Given the description of an element on the screen output the (x, y) to click on. 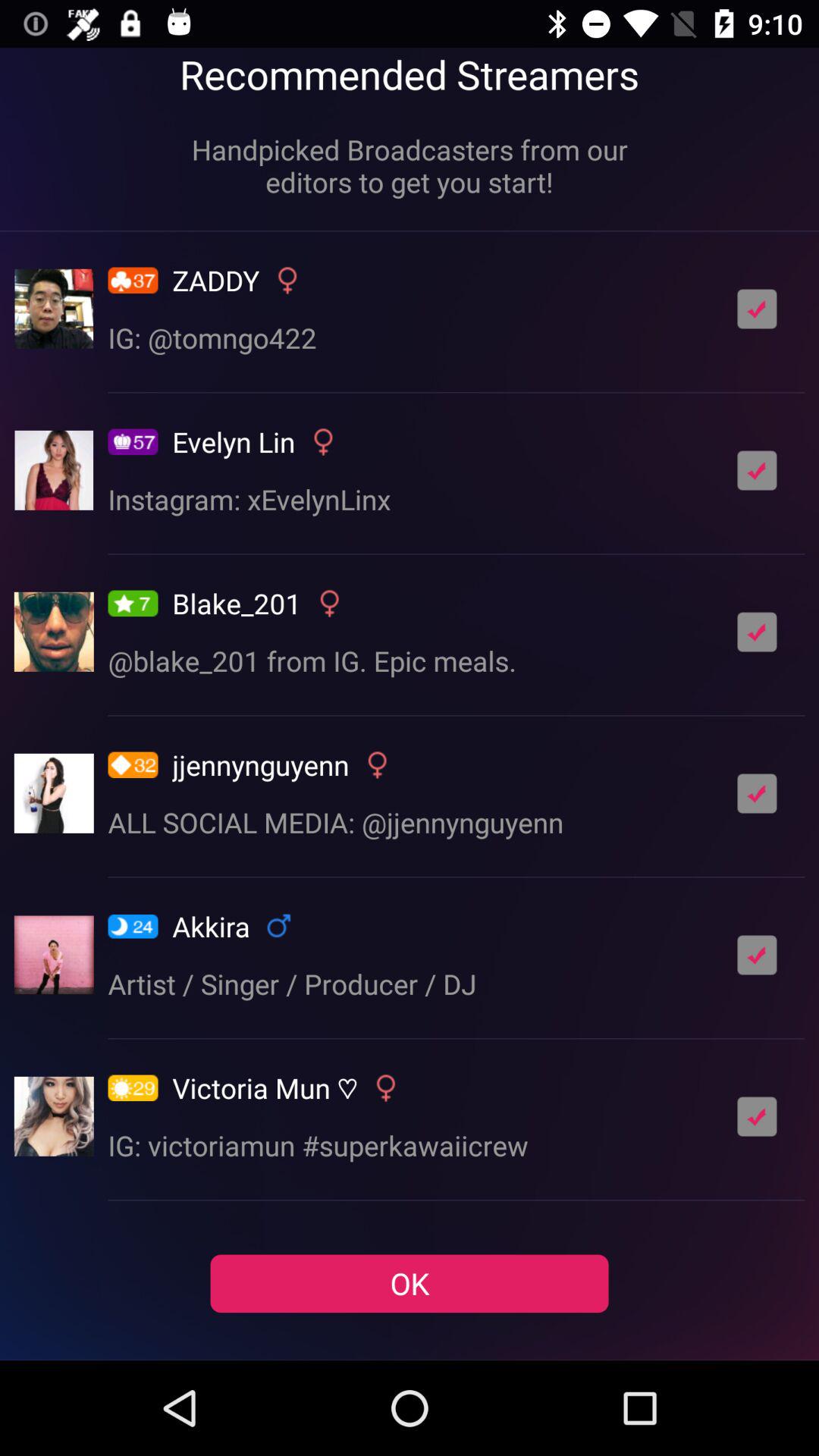
select streamer to follow (756, 793)
